Given the description of an element on the screen output the (x, y) to click on. 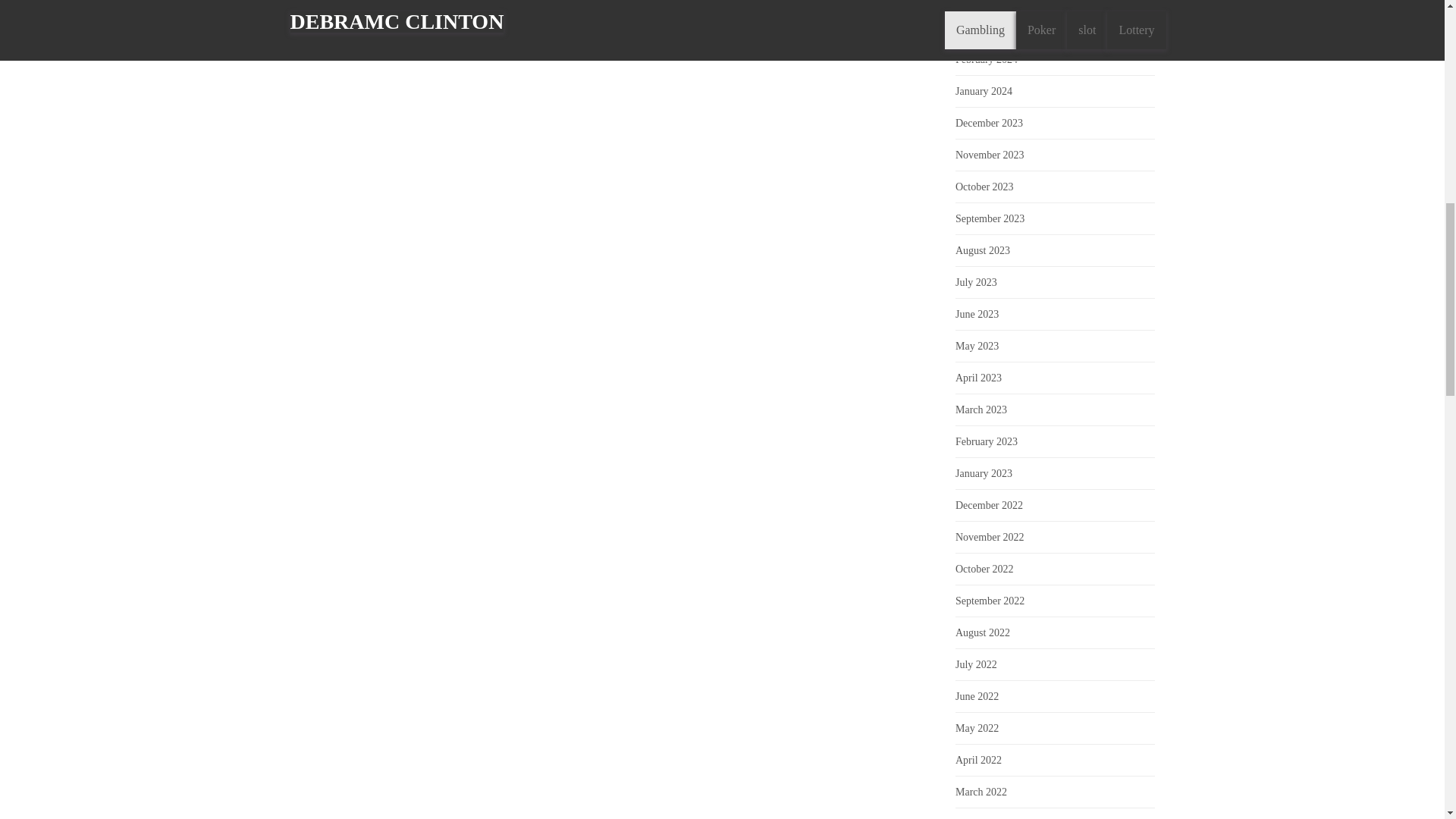
March 2023 (981, 409)
September 2023 (990, 218)
April 2023 (978, 378)
June 2023 (976, 314)
November 2022 (990, 536)
August 2023 (982, 250)
January 2023 (983, 473)
April 2024 (978, 0)
January 2024 (983, 91)
December 2023 (989, 122)
